Given the description of an element on the screen output the (x, y) to click on. 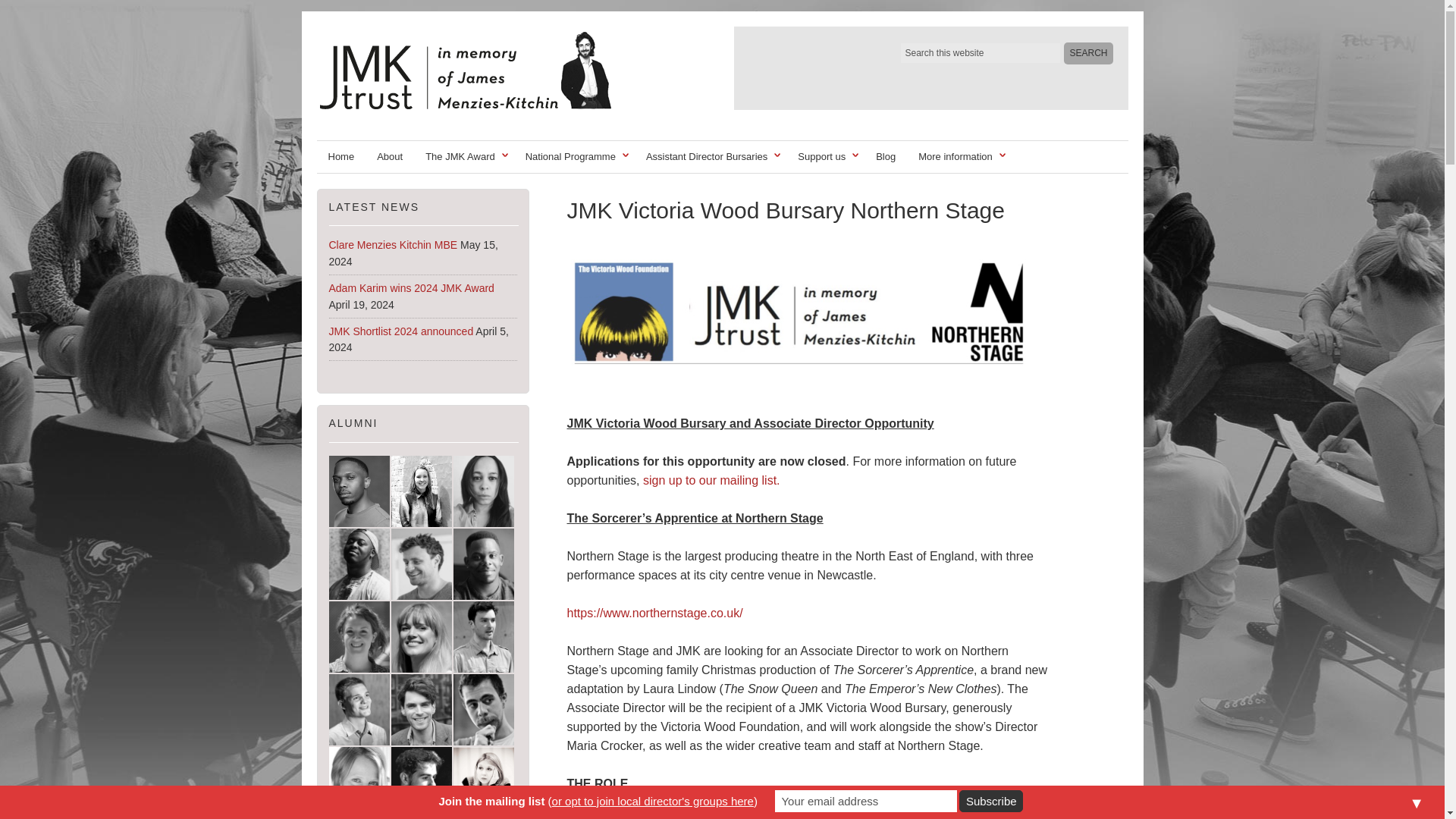
Blog (885, 156)
sign up to our mailing list. (711, 480)
Home (341, 156)
The JMK Trust (493, 67)
More information (959, 156)
Support us (825, 156)
Search (1088, 53)
Search (1088, 53)
Search (1088, 53)
About (389, 156)
The JMK Award (463, 156)
Assistant Director Bursaries (710, 156)
National Programme (573, 156)
Subscribe (991, 801)
